Given the description of an element on the screen output the (x, y) to click on. 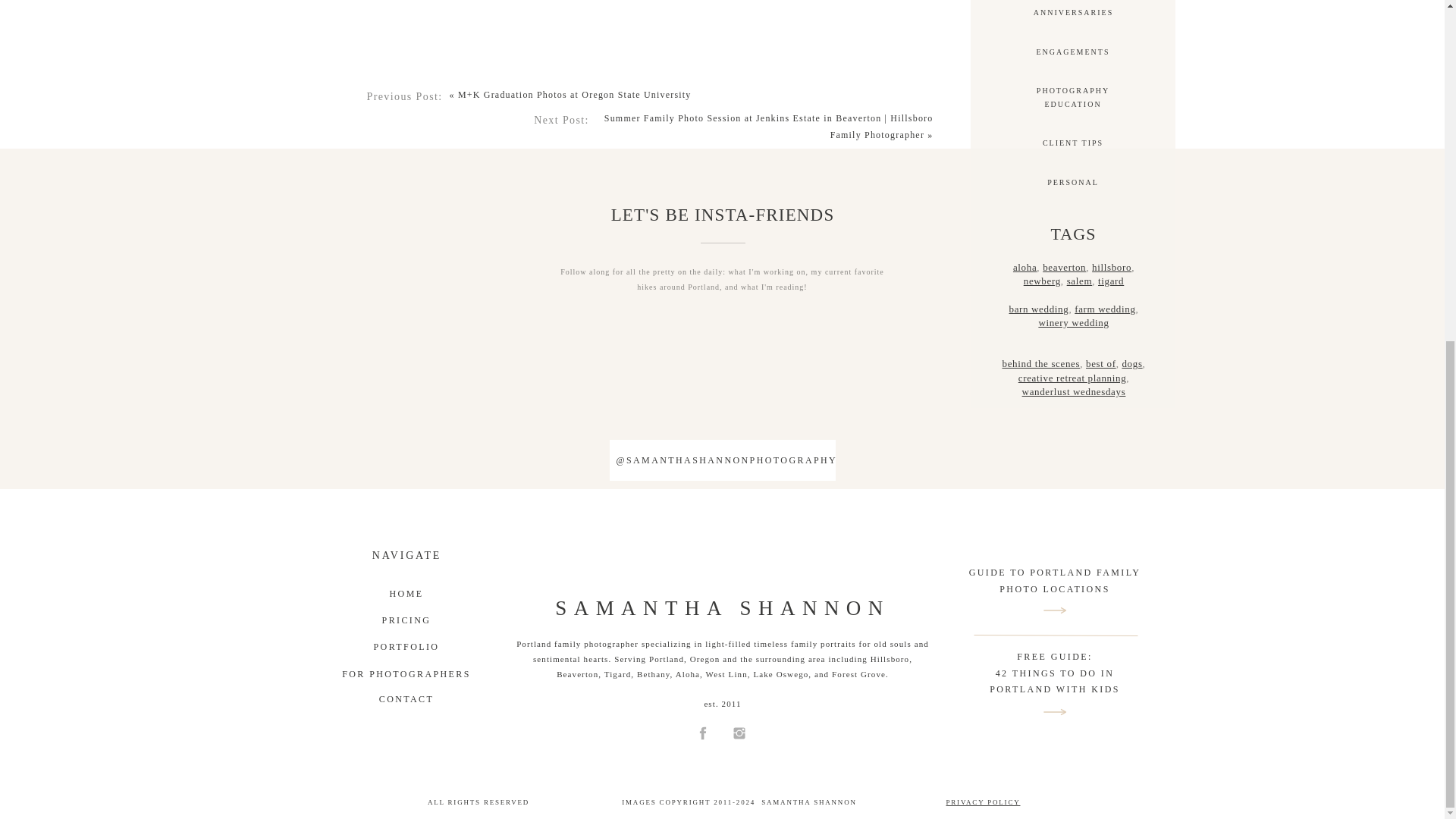
salem (1080, 280)
best of (1101, 363)
PERSONAL (1072, 182)
creative retreat planning (1072, 96)
winery wedding (1071, 378)
wanderlust wednesdays (1073, 322)
ANNIVERSARIES (1073, 391)
behind the scenes (1072, 11)
farm wedding (1040, 363)
